Given the description of an element on the screen output the (x, y) to click on. 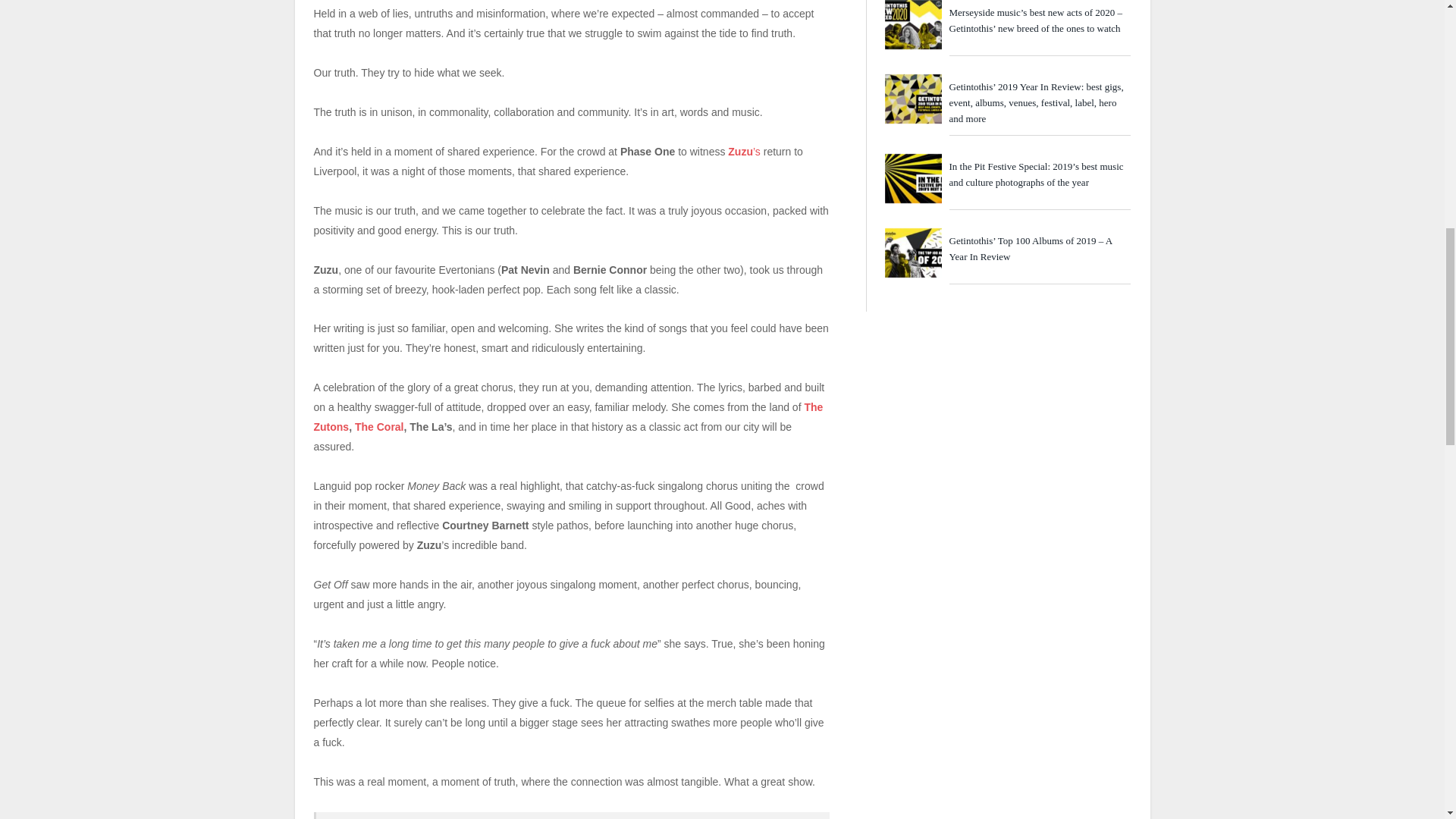
The Zutons (569, 417)
The Coral (379, 426)
